Given the description of an element on the screen output the (x, y) to click on. 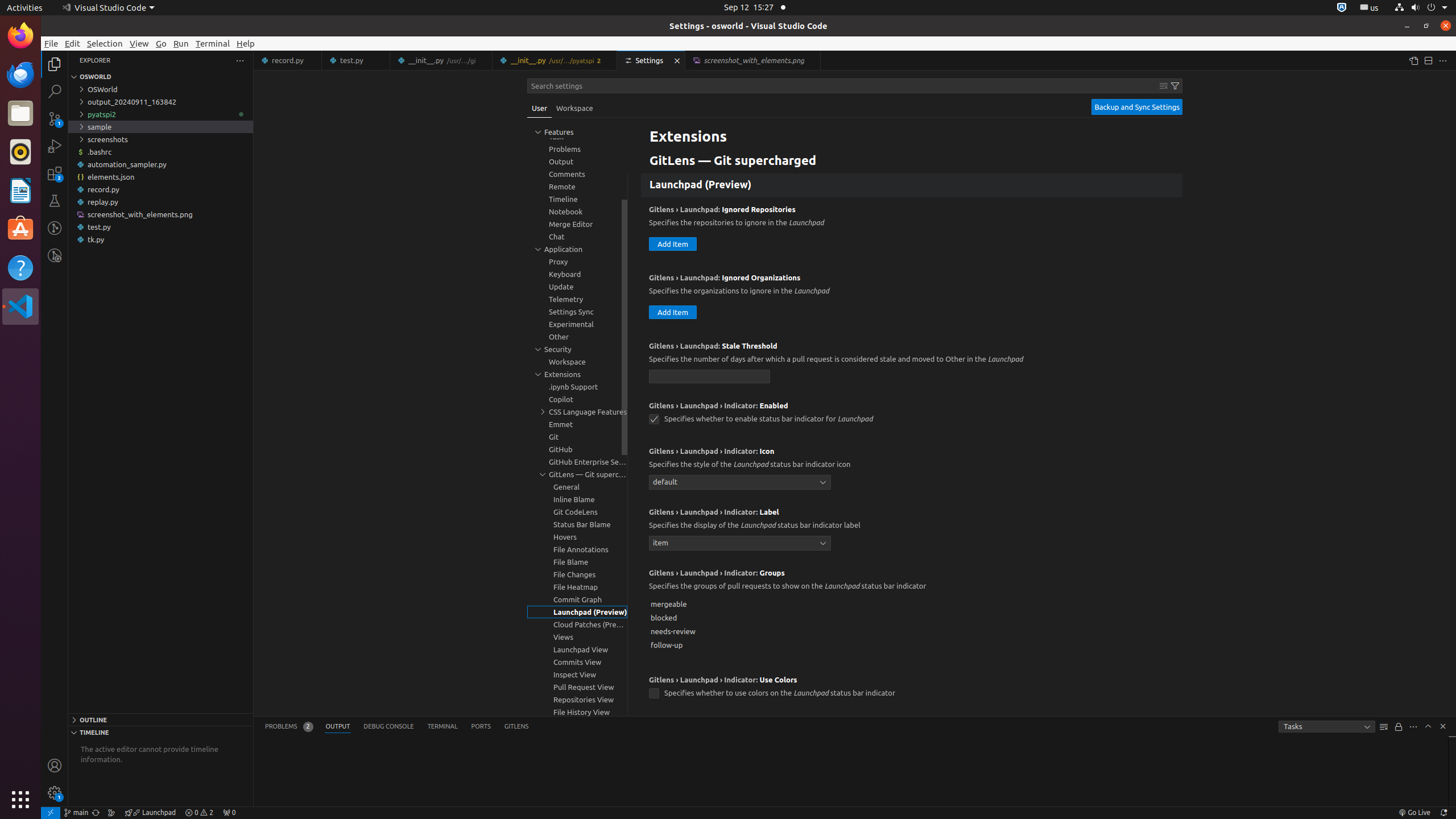
File Blame, group Element type: tree-item (577, 561)
Terminal (Ctrl+`) Element type: page-tab (442, 726)
GitLens — Git supercharged, group Element type: tree-item (577, 474)
Launchpad View, group Element type: tree-item (577, 649)
record.py Element type: page-tab (287, 60)
